Given the description of an element on the screen output the (x, y) to click on. 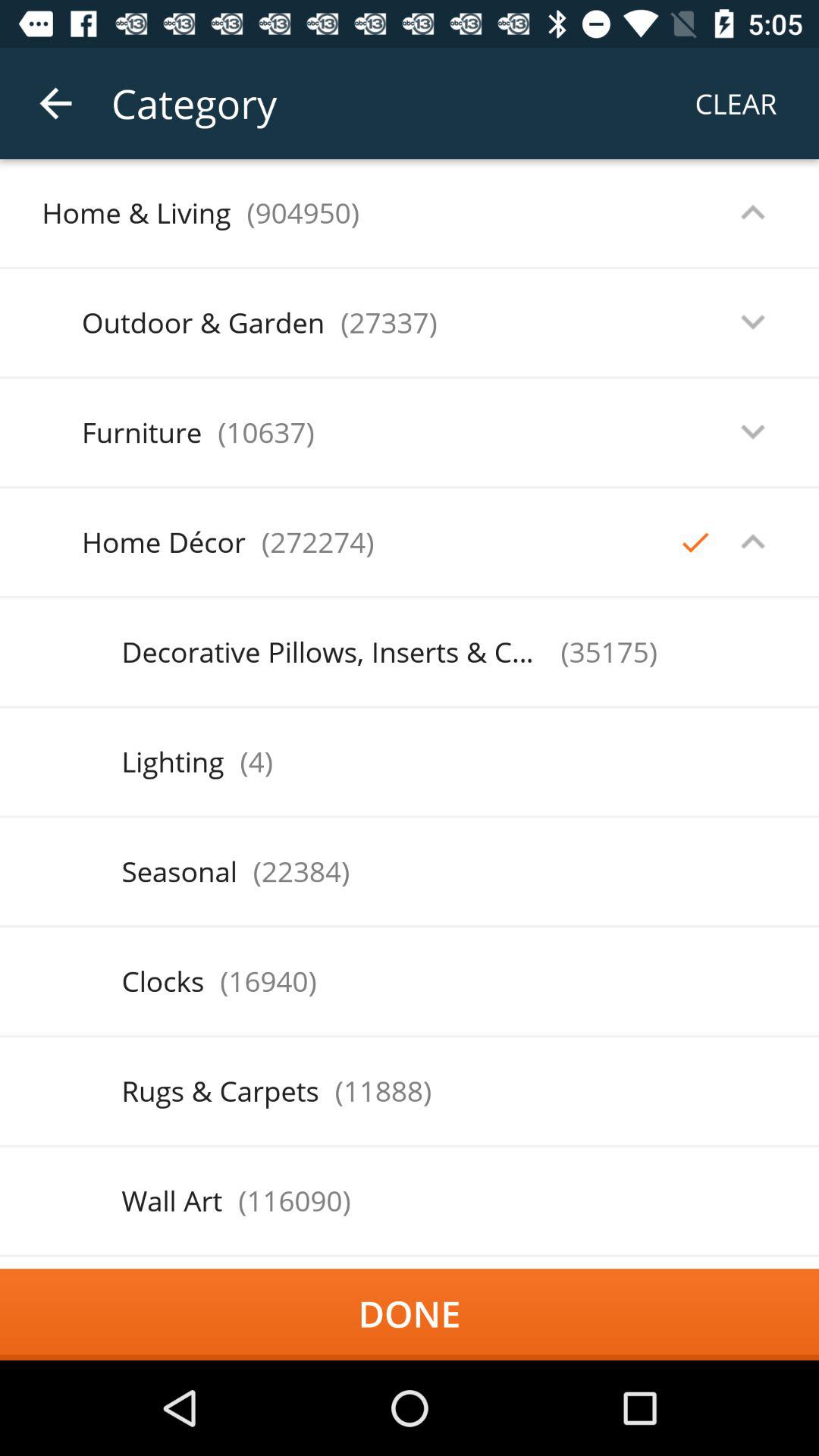
choose the item above the home & living item (55, 103)
